Given the description of an element on the screen output the (x, y) to click on. 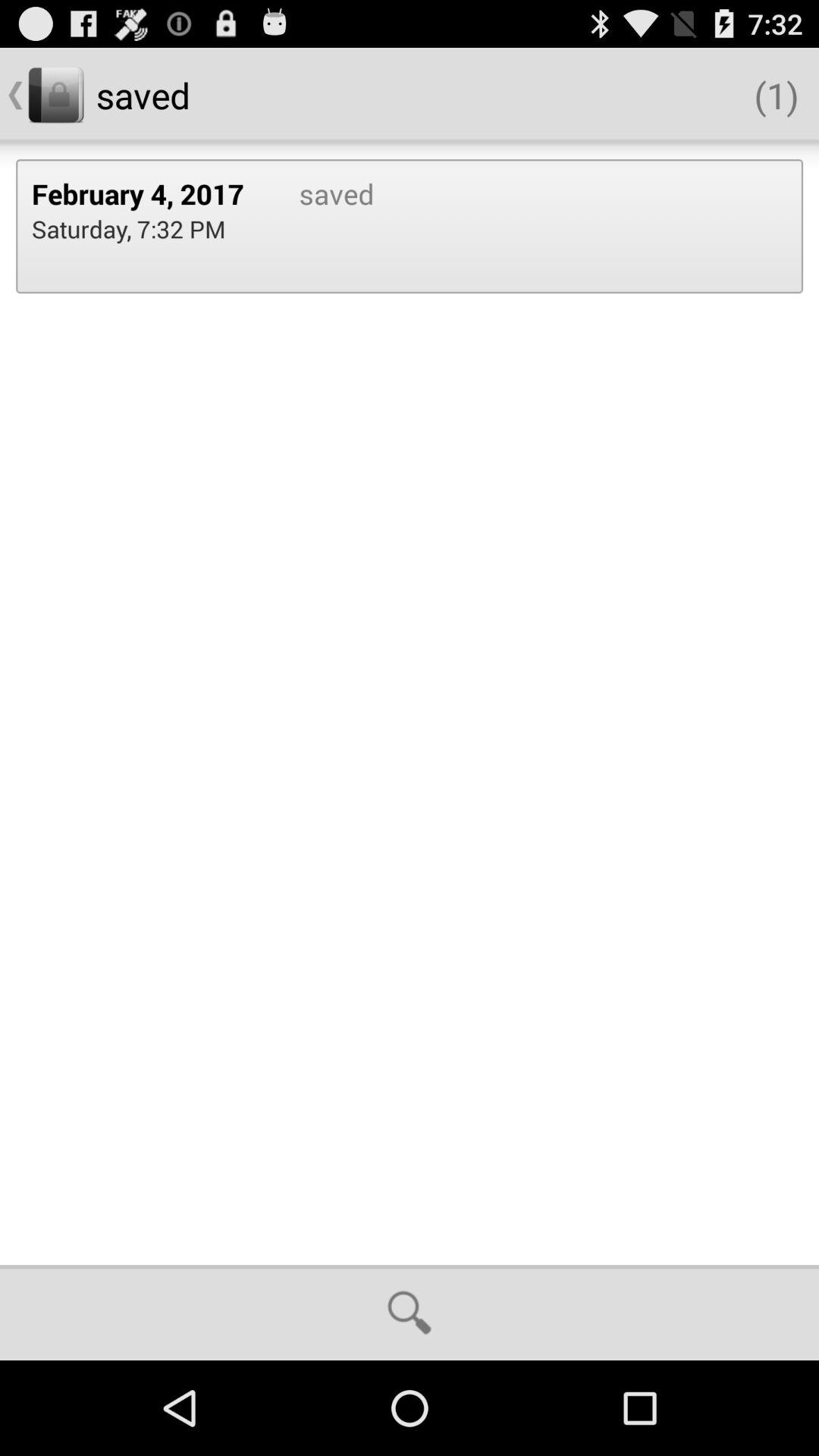
turn on the february 4, 2017 icon (149, 193)
